Given the description of an element on the screen output the (x, y) to click on. 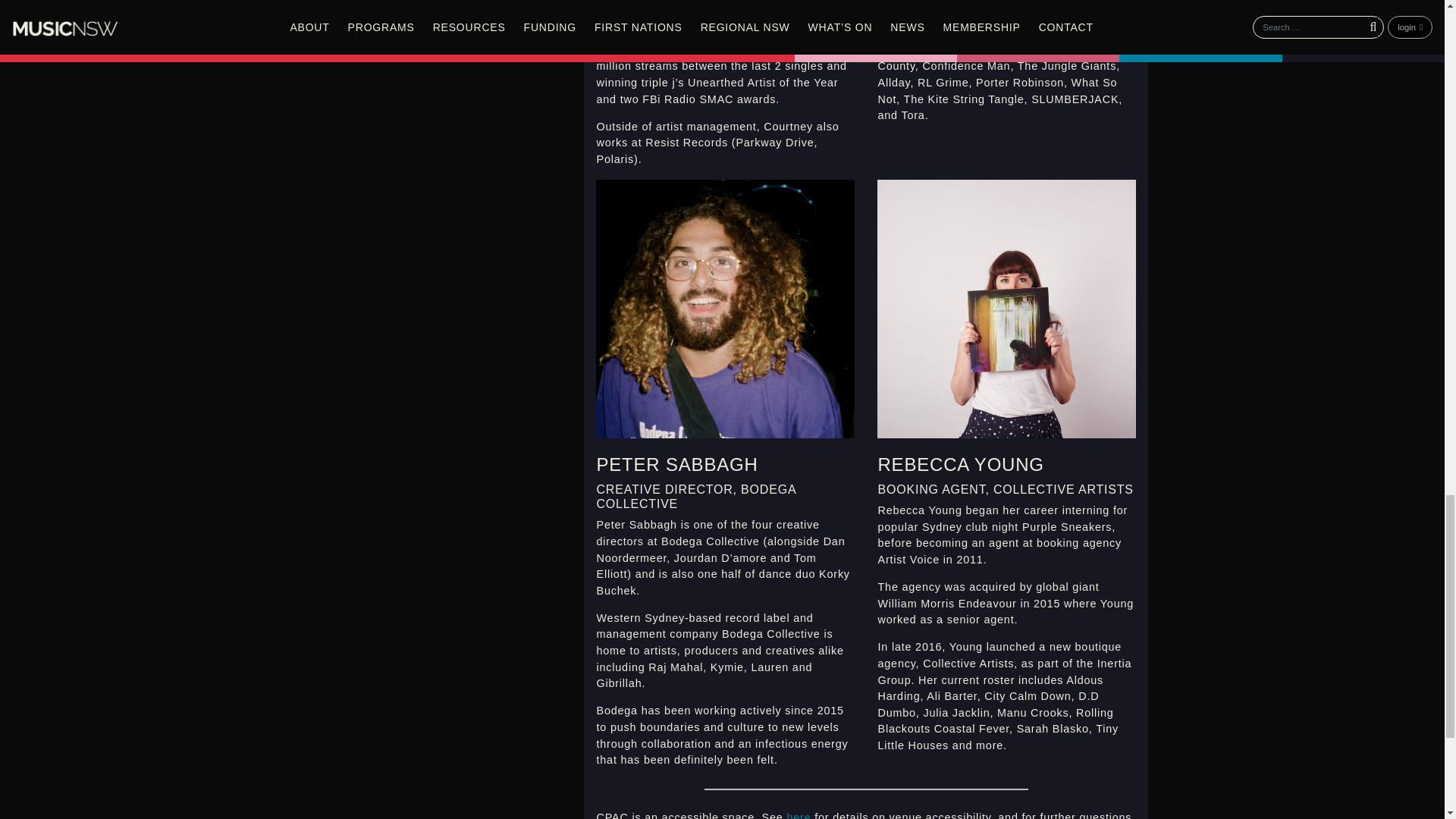
Peter Sabbagh (724, 308)
here (798, 815)
Rebecca Young (1006, 308)
